Given the description of an element on the screen output the (x, y) to click on. 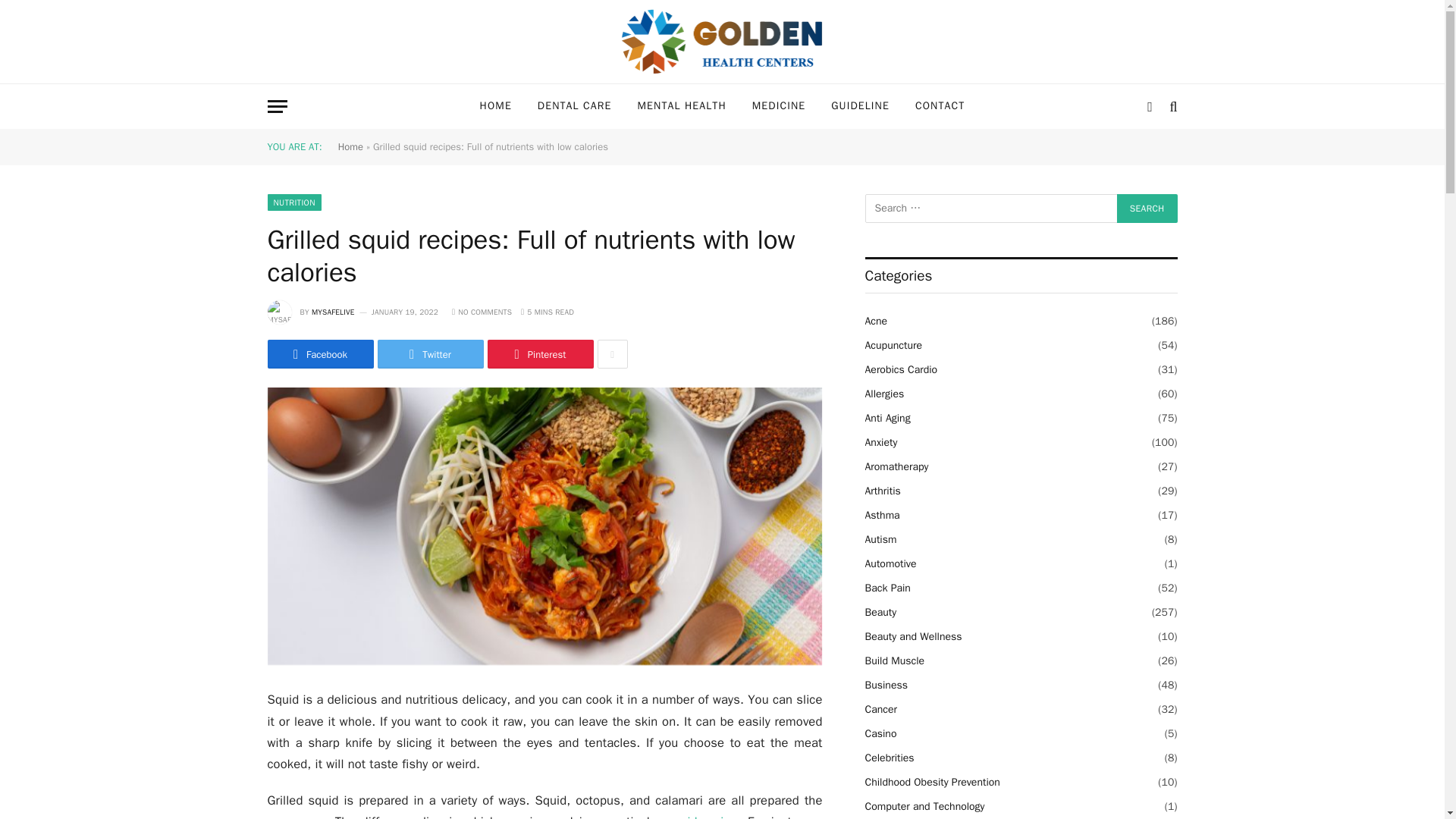
Golden Health Centers (722, 41)
Facebook (319, 353)
Home (349, 146)
Search (1146, 208)
MEDICINE (778, 106)
Twitter (430, 353)
Share on Pinterest (539, 353)
Posts by mysafelive (333, 311)
Pinterest (539, 353)
Search (1146, 208)
Switch to Dark Design - easier on eyes. (1149, 106)
GUIDELINE (860, 106)
HOME (495, 106)
DENTAL CARE (574, 106)
CONTACT (939, 106)
